Given the description of an element on the screen output the (x, y) to click on. 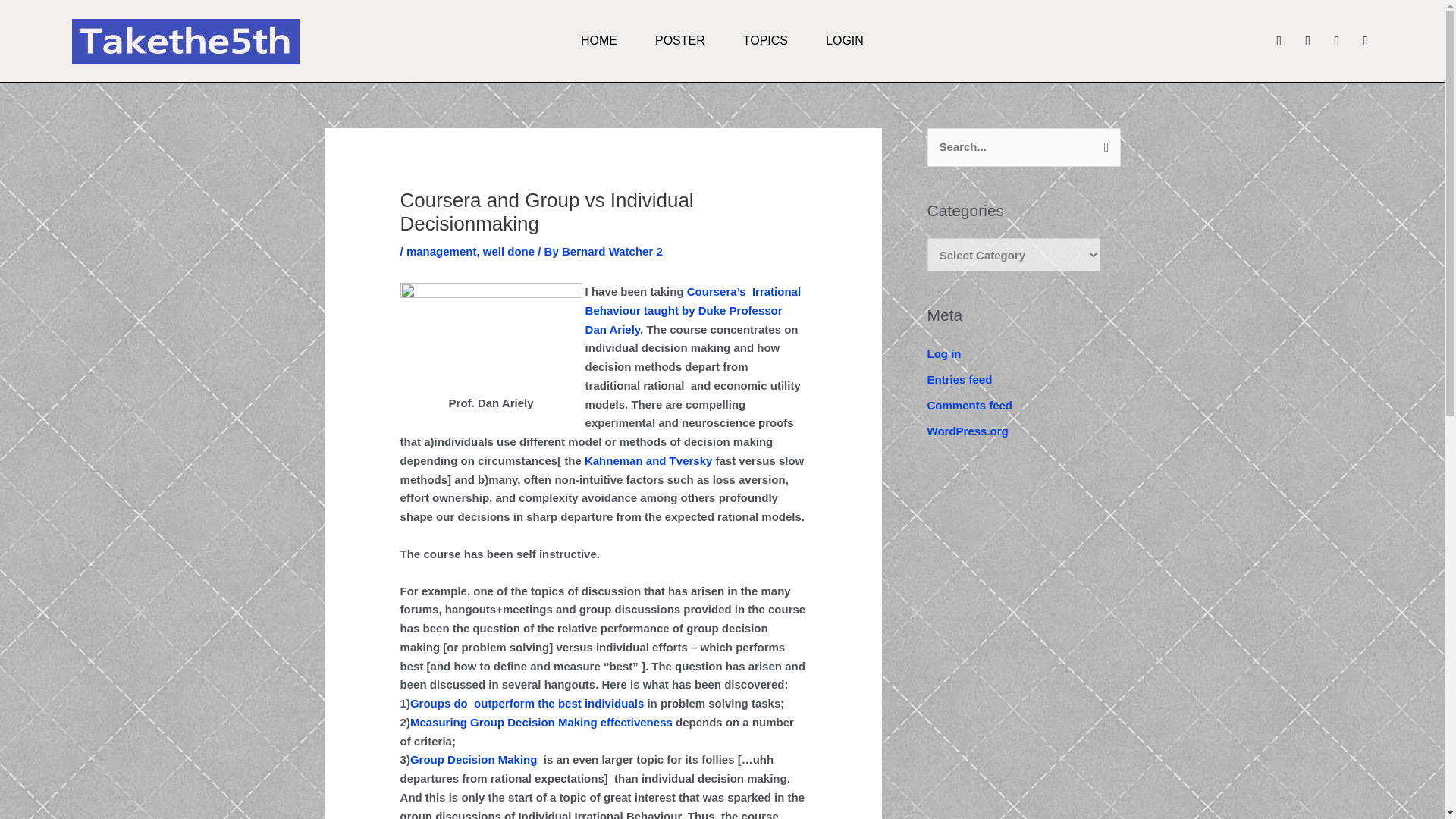
POSTER (679, 40)
well done (508, 250)
Measuring Group Decision Making effectiveness (541, 721)
Group Decision Making (475, 758)
HOME (598, 40)
LOGIN (844, 40)
management (441, 250)
Bernard Watcher 2 (612, 250)
Twitter (1307, 40)
View all posts by Bernard Watcher 2 (612, 250)
